Given the description of an element on the screen output the (x, y) to click on. 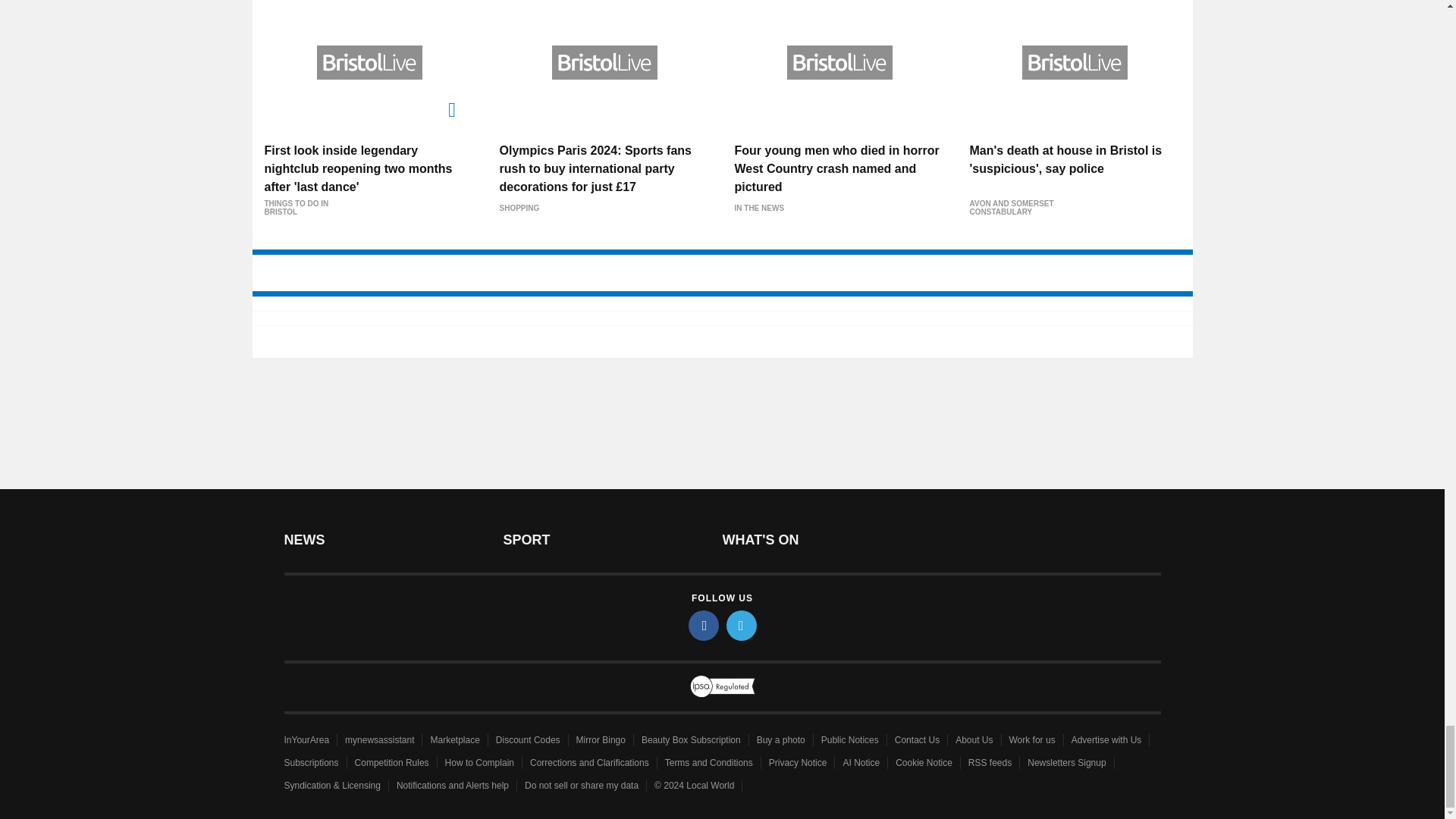
facebook (703, 625)
twitter (741, 625)
